Given the description of an element on the screen output the (x, y) to click on. 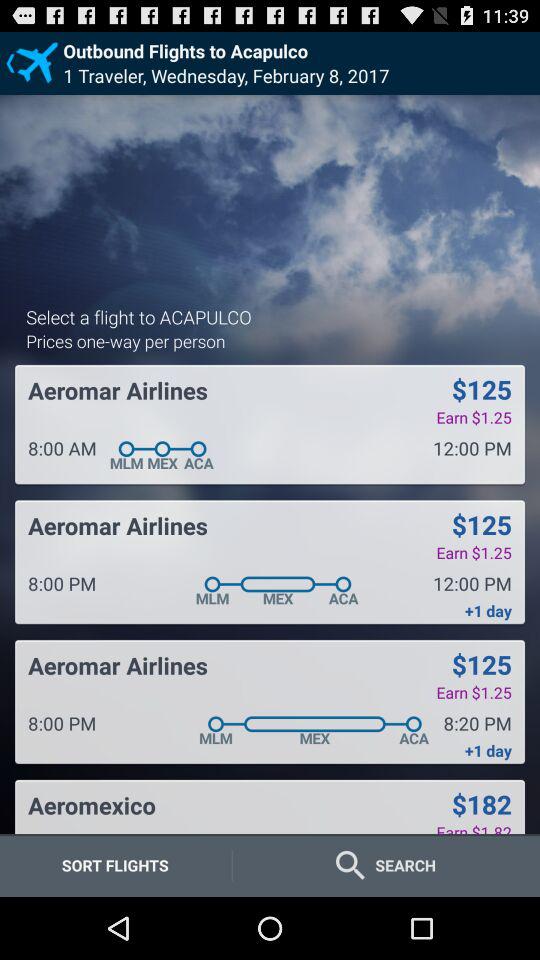
jump to aeromexico item (92, 805)
